Given the description of an element on the screen output the (x, y) to click on. 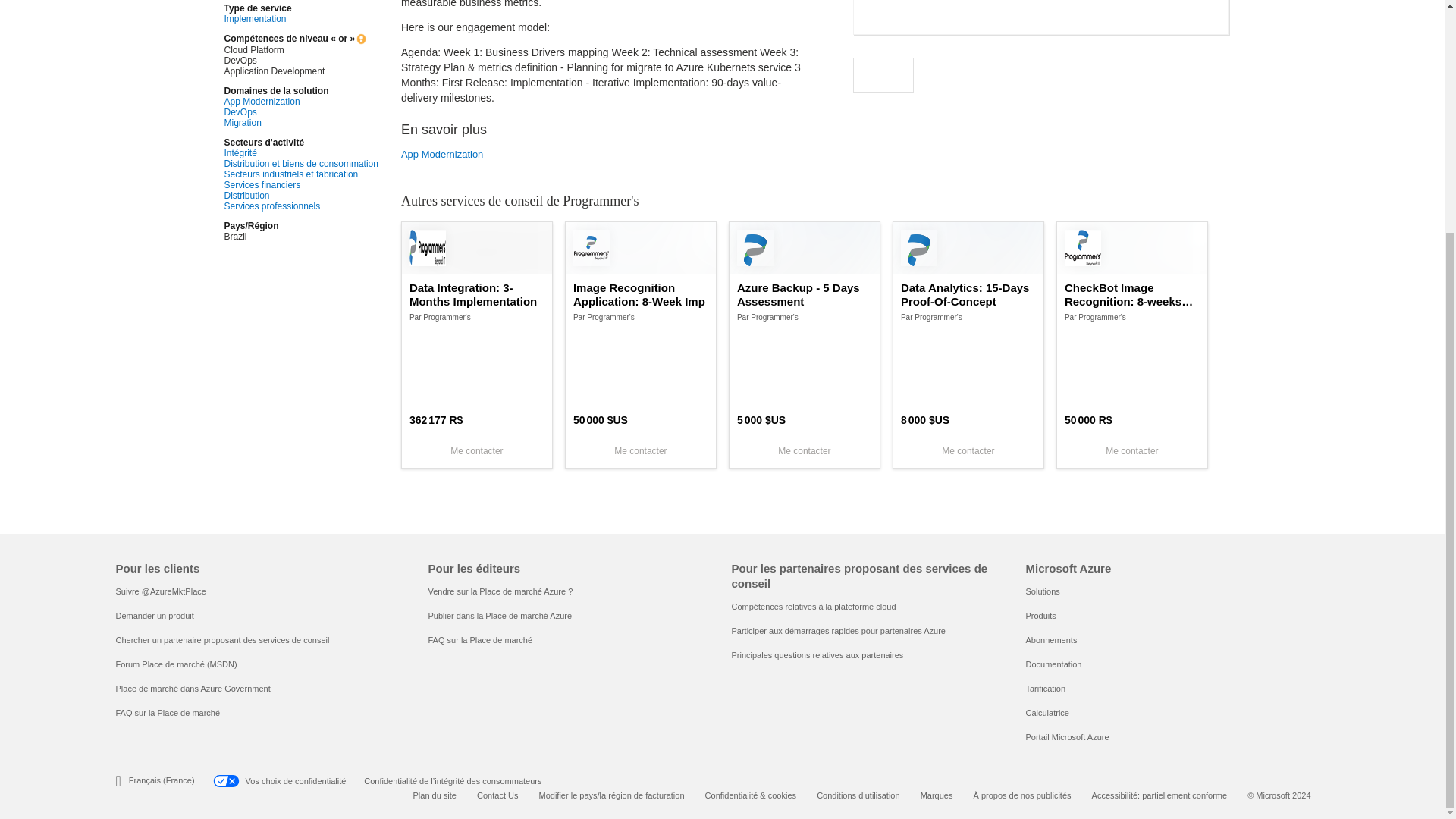
Azure Backup - 5 Days Assessment (804, 294)
Data Integration: 3-Months Implementation (476, 294)
Image Recognition Application: 8-Week Imp (640, 294)
Data Analytics: 15-Days Proof-Of-Concept (968, 294)
CheckBot Image Recognition: 8-weeks Implementation (1131, 294)
